Given the description of an element on the screen output the (x, y) to click on. 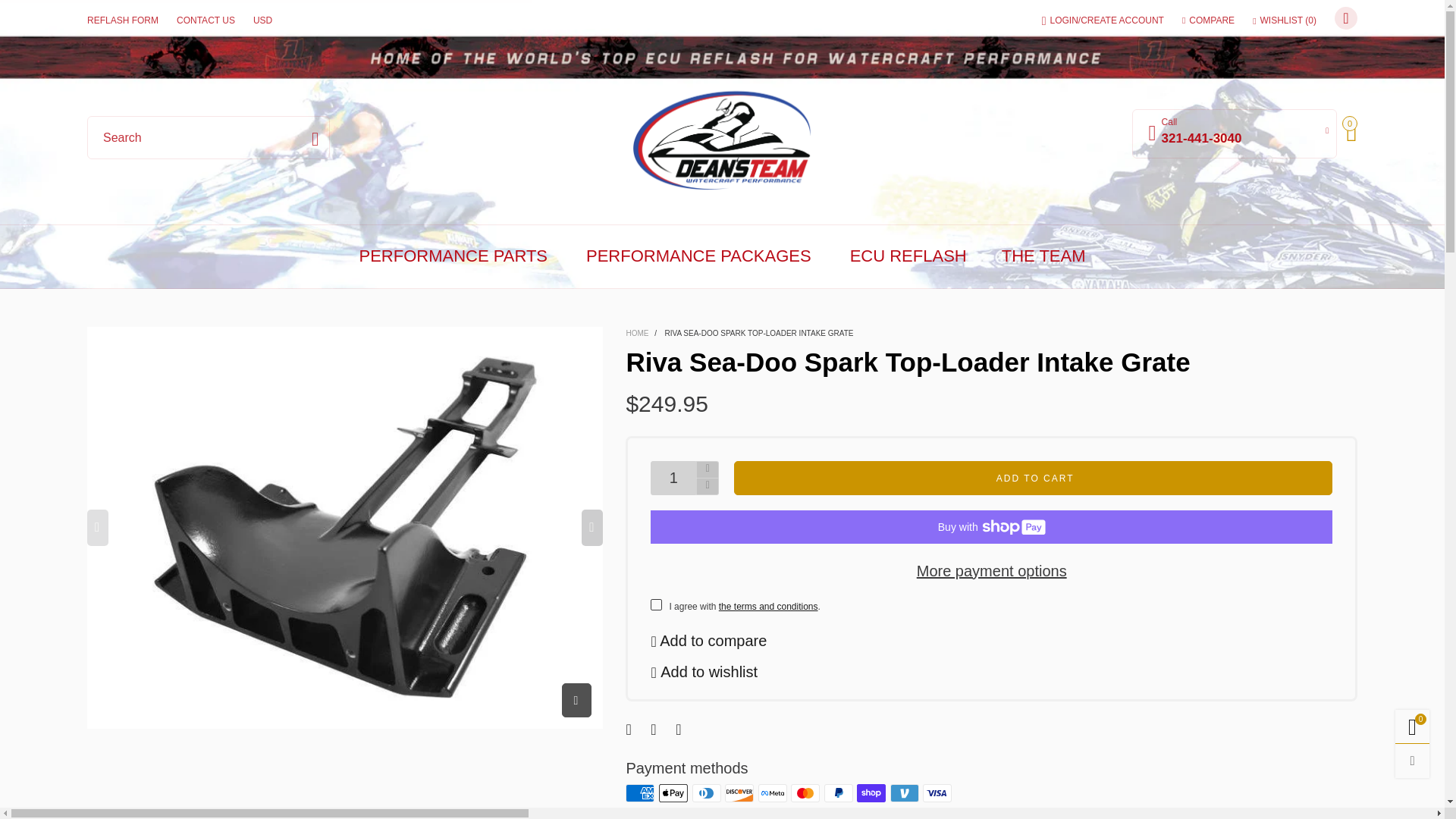
Wishlist (1283, 20)
Currency (262, 20)
Apple Pay (673, 792)
REFLASH FORM (122, 20)
Mastercard (804, 792)
Shop Pay (871, 792)
CONTACT US (205, 20)
My Account (1102, 20)
Diners Club (706, 792)
My Account (1234, 133)
